Given the description of an element on the screen output the (x, y) to click on. 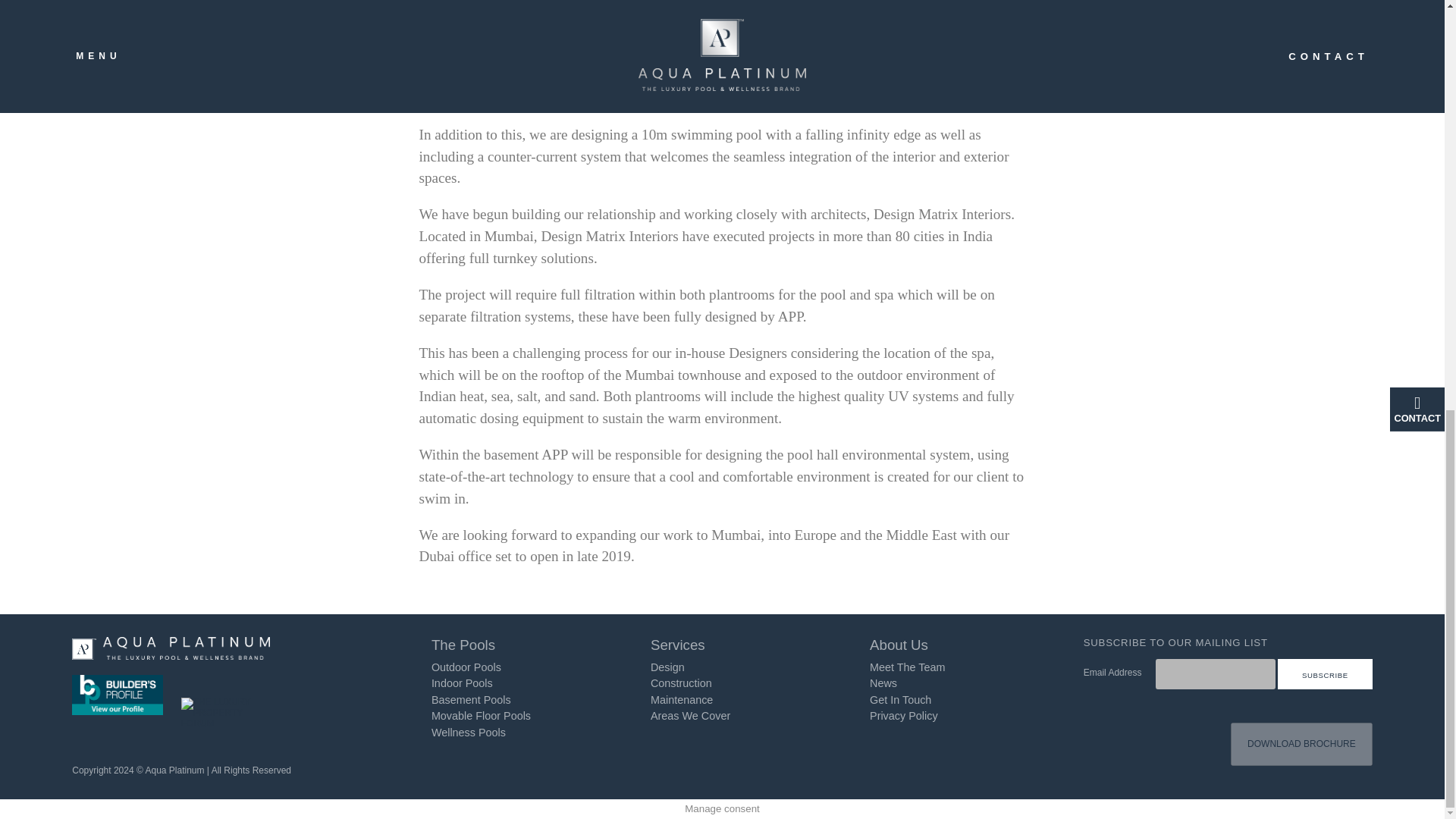
DOWNLOAD BROCHURE (1301, 744)
Subscribe (1325, 674)
Wellness Pools (467, 732)
About Us (956, 645)
Outdoor Pools (465, 666)
Subscribe (1325, 674)
Areas We Cover (690, 715)
Indoor Pools (461, 683)
Basement Pools (470, 699)
DOWNLOAD BROCHURE (1301, 743)
